Given the description of an element on the screen output the (x, y) to click on. 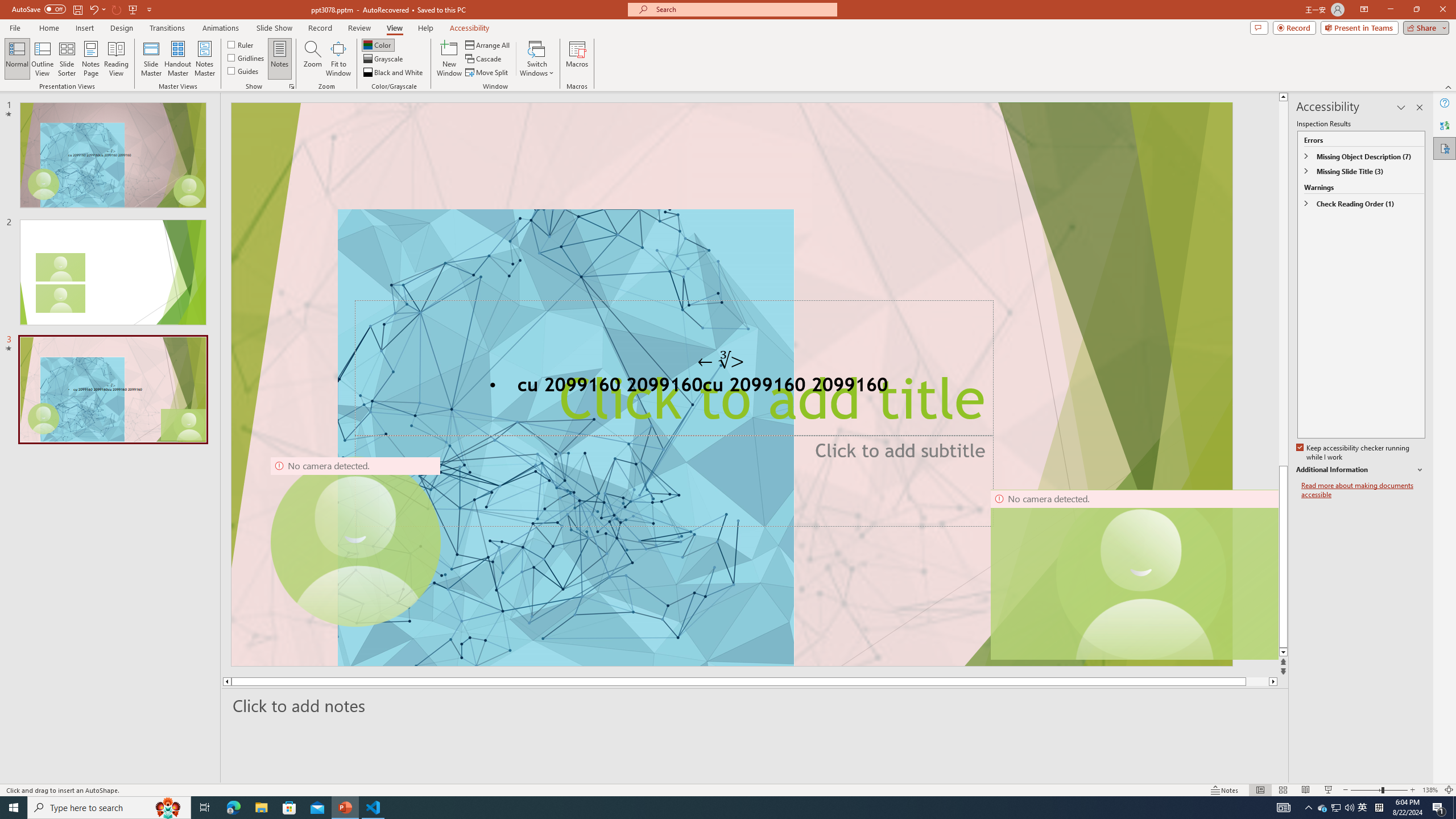
Move Split (487, 72)
Grid Settings... (291, 85)
Fit to Window (338, 58)
Macros (576, 58)
An abstract genetic concept (731, 384)
Outline View (42, 58)
